Given the description of an element on the screen output the (x, y) to click on. 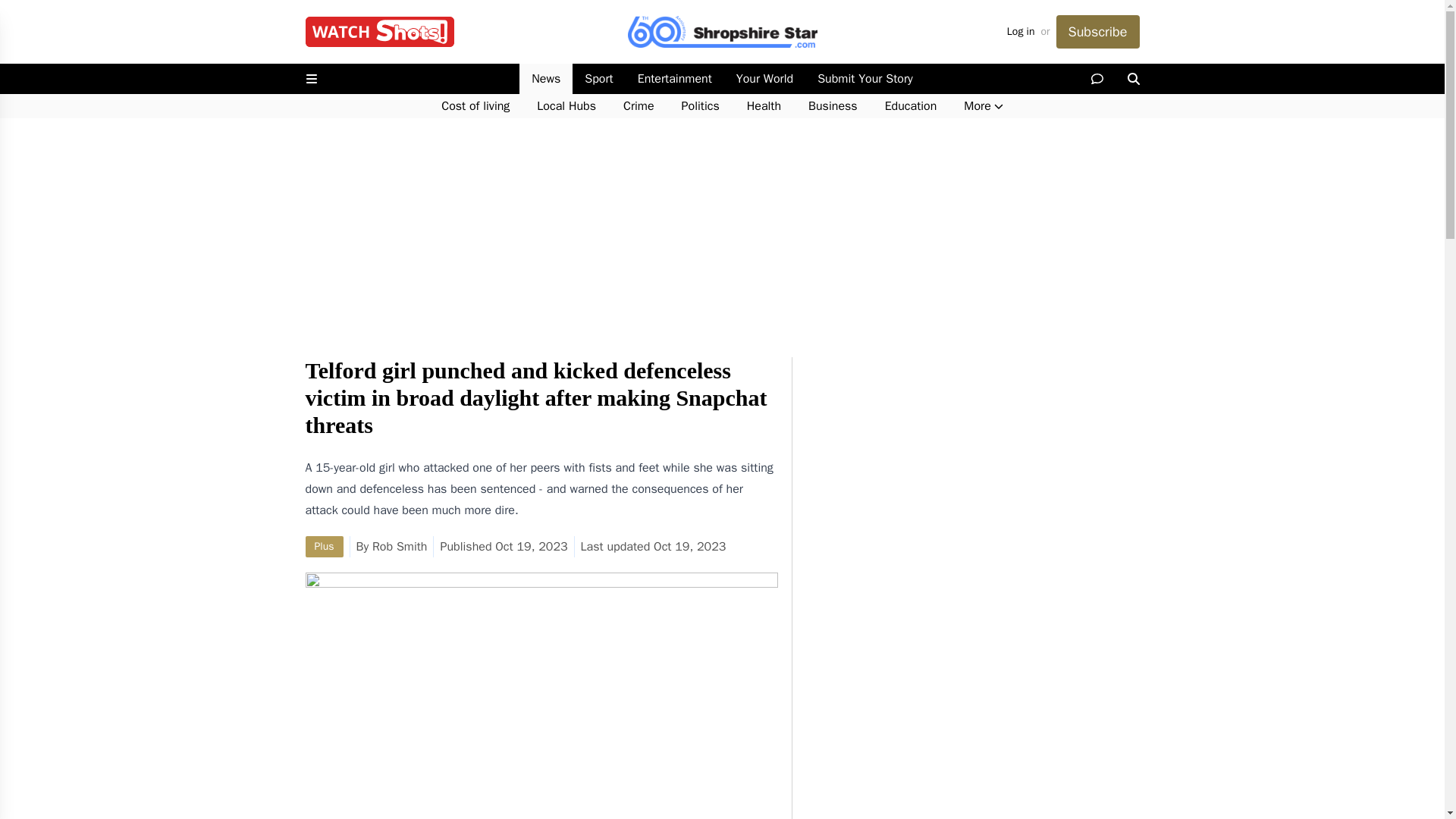
Sport (598, 78)
Subscribe (1096, 31)
Log in (1021, 31)
Your World (764, 78)
More (983, 105)
Submit Your Story (864, 78)
Crime (638, 105)
News (545, 78)
Politics (700, 105)
Business (832, 105)
